Given the description of an element on the screen output the (x, y) to click on. 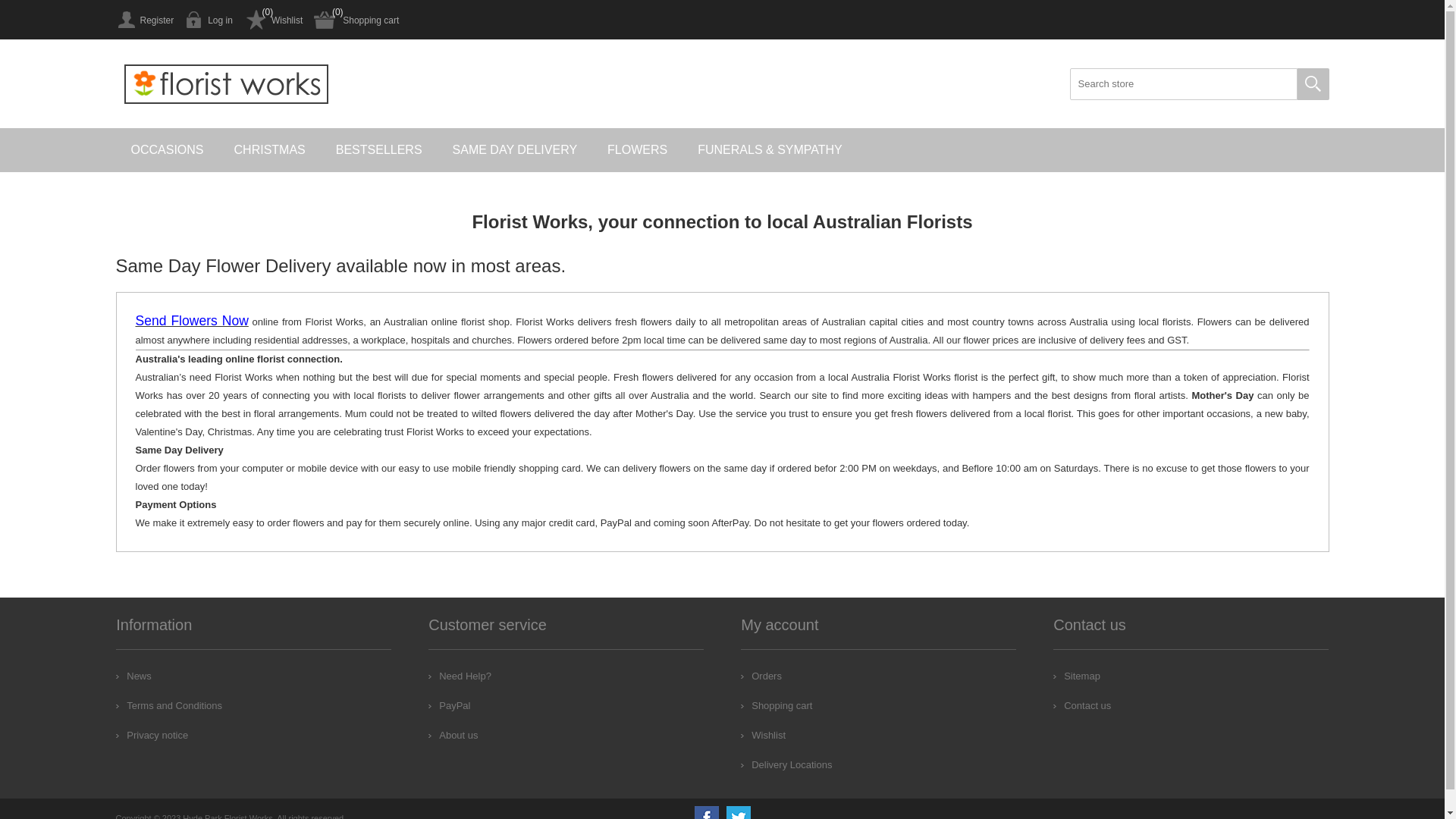
Send Flowers Now Element type: text (190, 321)
Terms and Conditions Element type: text (169, 705)
Sitemap Element type: text (1076, 675)
FLOWERS Element type: text (637, 150)
FUNERALS & SYMPATHY Element type: text (769, 150)
CHRISTMAS Element type: text (269, 150)
OCCASIONS Element type: text (166, 150)
Wishlist Element type: text (273, 19)
Log in Element type: text (208, 19)
SAME DAY DELIVERY Element type: text (515, 150)
BESTSELLERS Element type: text (378, 150)
News Element type: text (133, 675)
PayPal Element type: text (449, 705)
Privacy notice Element type: text (152, 734)
Search Element type: text (1312, 84)
Orders Element type: text (760, 675)
Need Help? Element type: text (459, 675)
Register Element type: text (144, 19)
Shopping cart Element type: text (776, 705)
Delivery Locations Element type: text (785, 764)
About us Element type: text (452, 734)
Contact us Element type: text (1081, 705)
Wishlist Element type: text (762, 734)
Shopping cart Element type: text (355, 19)
